Given the description of an element on the screen output the (x, y) to click on. 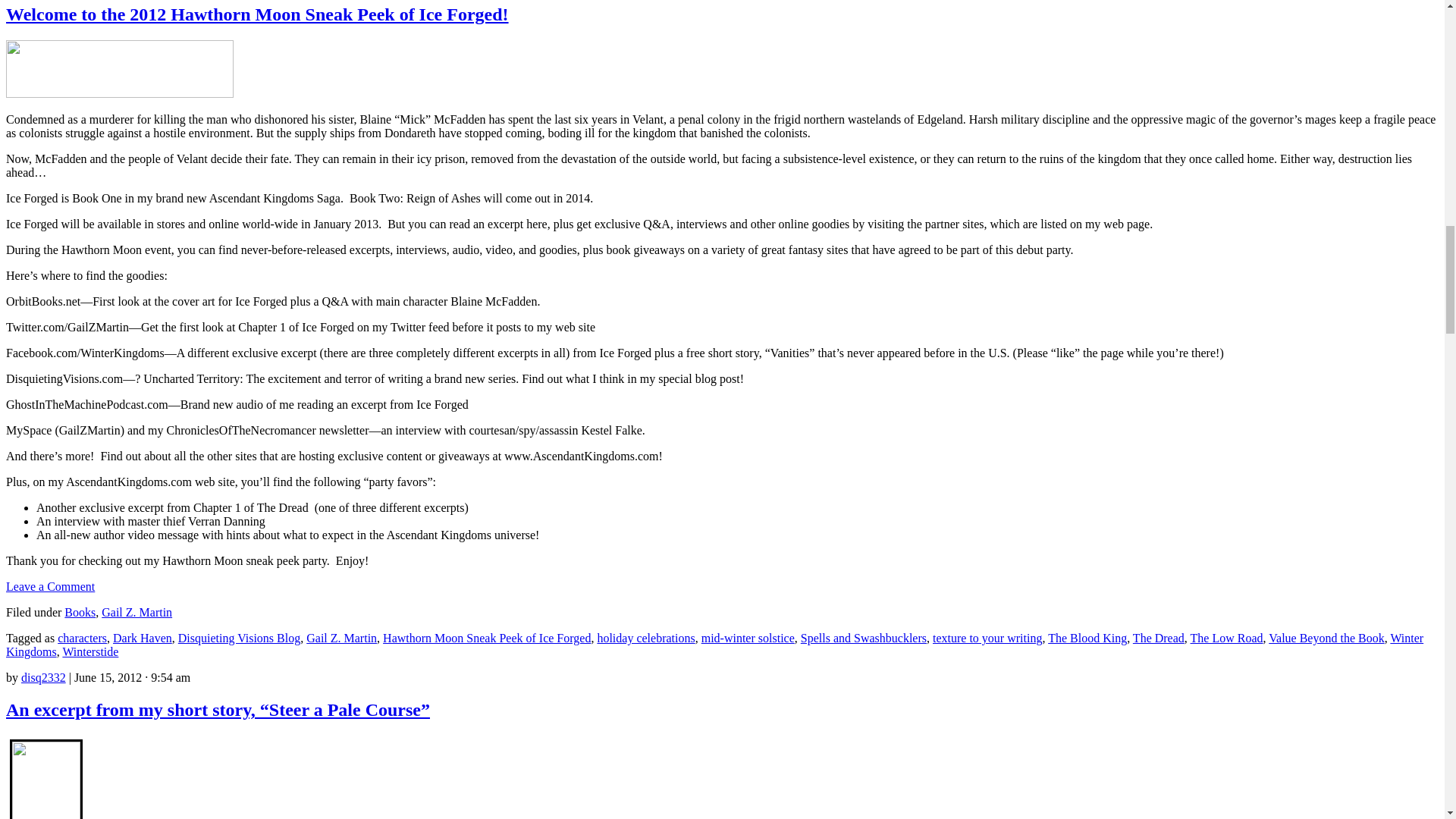
The Hawthorn Moon Banner (118, 68)
View all posts by disq2332 (43, 676)
